Given the description of an element on the screen output the (x, y) to click on. 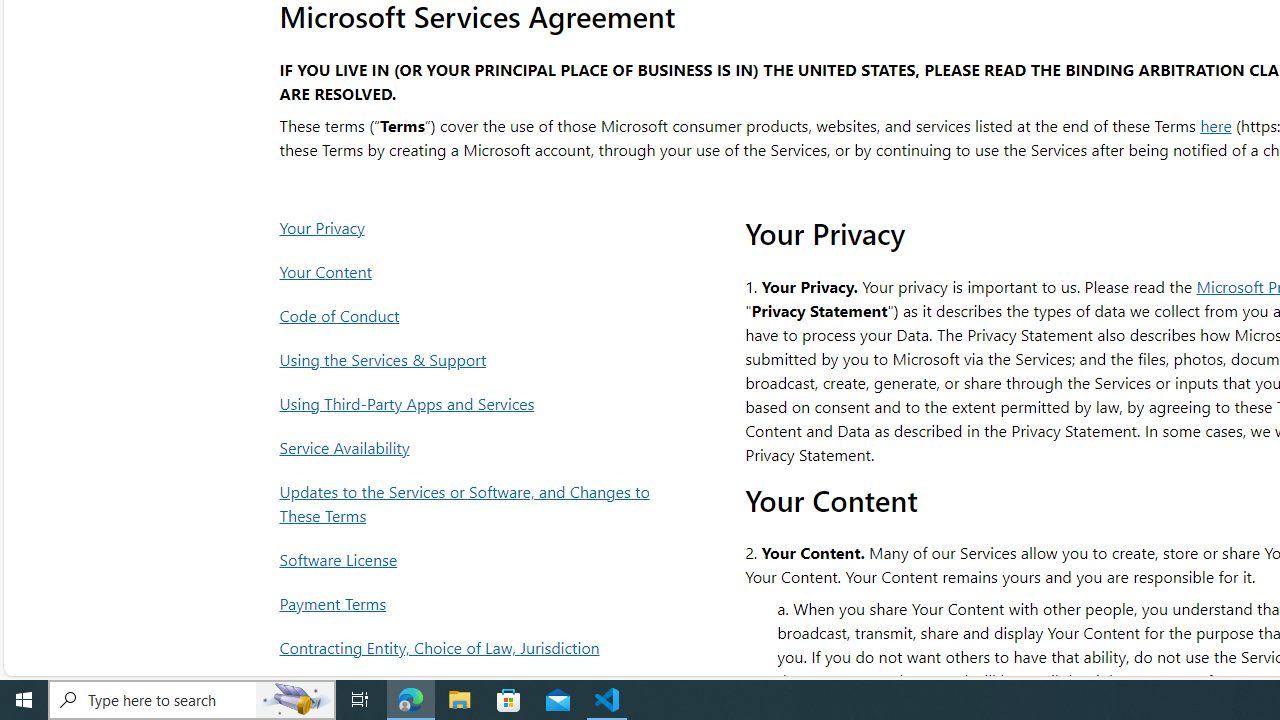
Contracting Entity, Choice of Law, Jurisdiction (470, 647)
Using the Services & Support (470, 359)
Your Privacy (470, 227)
Code of Conduct (470, 315)
here (1215, 124)
Your Content (470, 271)
Using Third-Party Apps and Services (470, 403)
Payment Terms (470, 603)
Software License (470, 559)
Service Availability (470, 447)
